Given the description of an element on the screen output the (x, y) to click on. 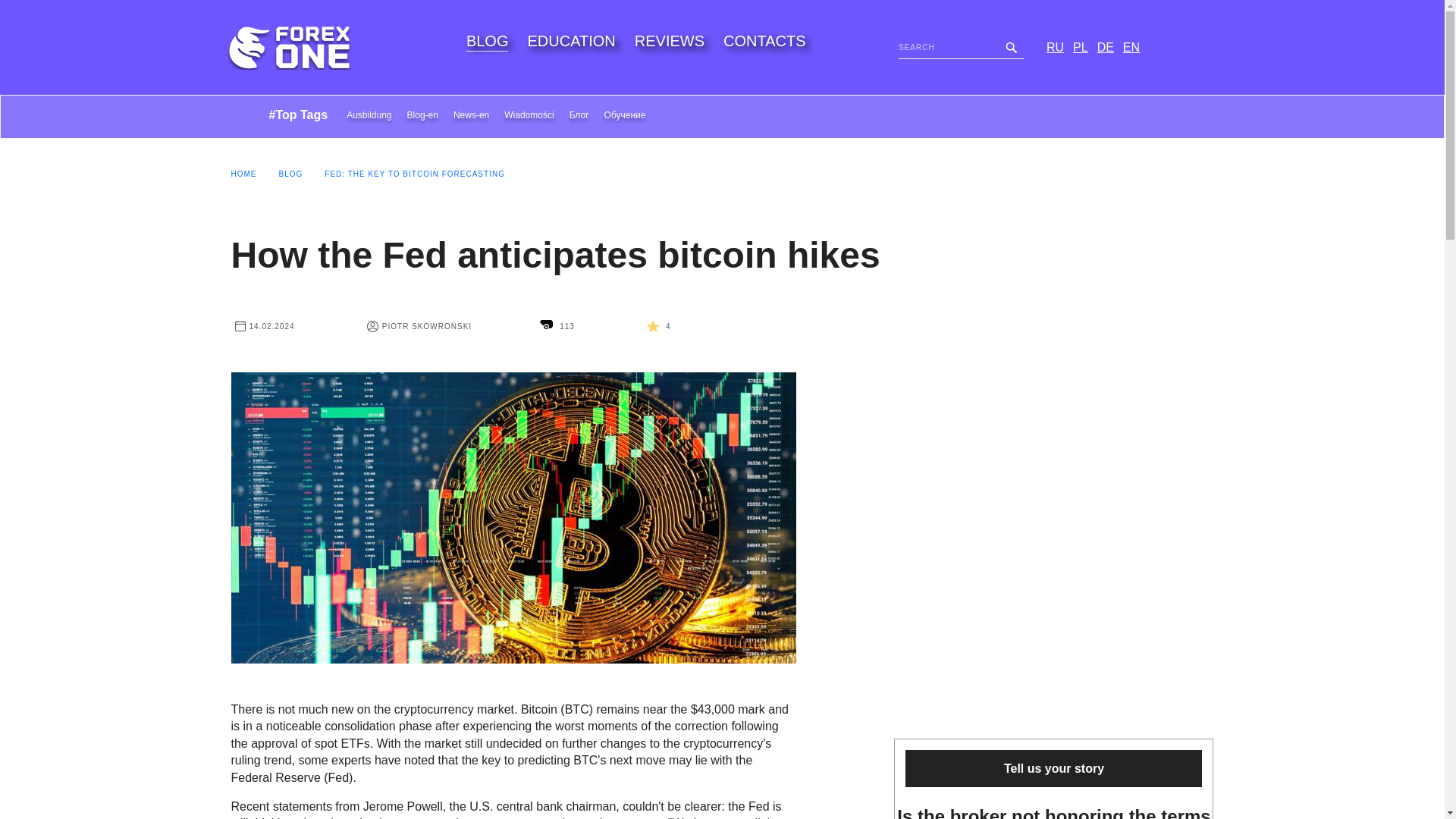
Ausbildung (368, 117)
EN (1131, 46)
REVIEWS (669, 40)
WATCHED 85 (546, 326)
Blog-en (422, 117)
BLOG (290, 173)
cal (240, 326)
HOME (243, 173)
BLOG (290, 173)
HOME (243, 173)
